Given the description of an element on the screen output the (x, y) to click on. 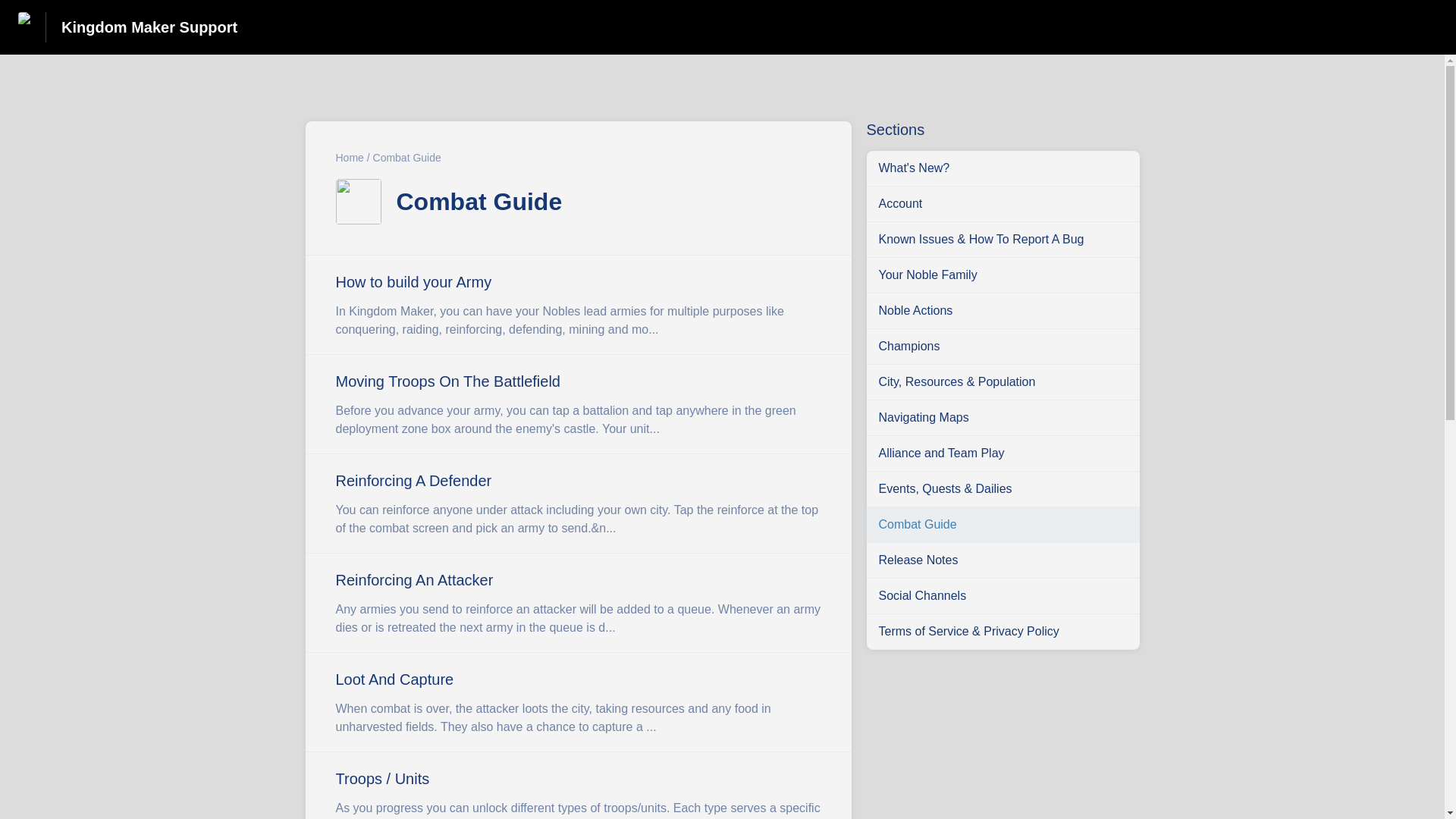
Account (1002, 203)
Navigating Maps (1002, 417)
Reinforcing A Defender (577, 503)
Moving Troops On The Battlefield (577, 404)
Reinforcing An Attacker (577, 602)
Social Channels (1002, 595)
Kingdom Maker Support (149, 27)
Champions (1002, 346)
What's New? (1002, 167)
Home (348, 157)
Release Notes (1002, 560)
Noble Actions (1002, 310)
